Given the description of an element on the screen output the (x, y) to click on. 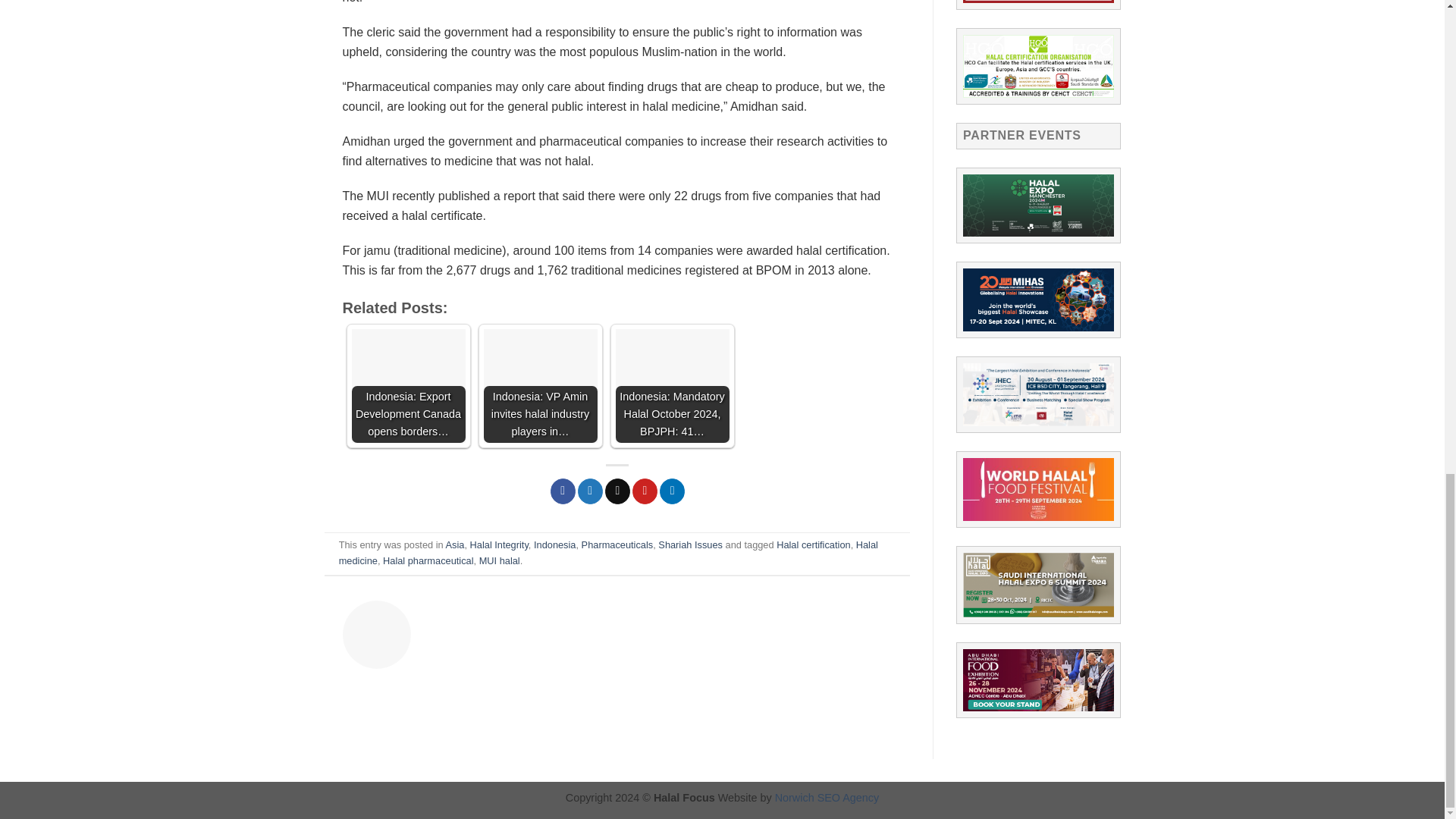
Norwich SEO Agency (826, 797)
